Given the description of an element on the screen output the (x, y) to click on. 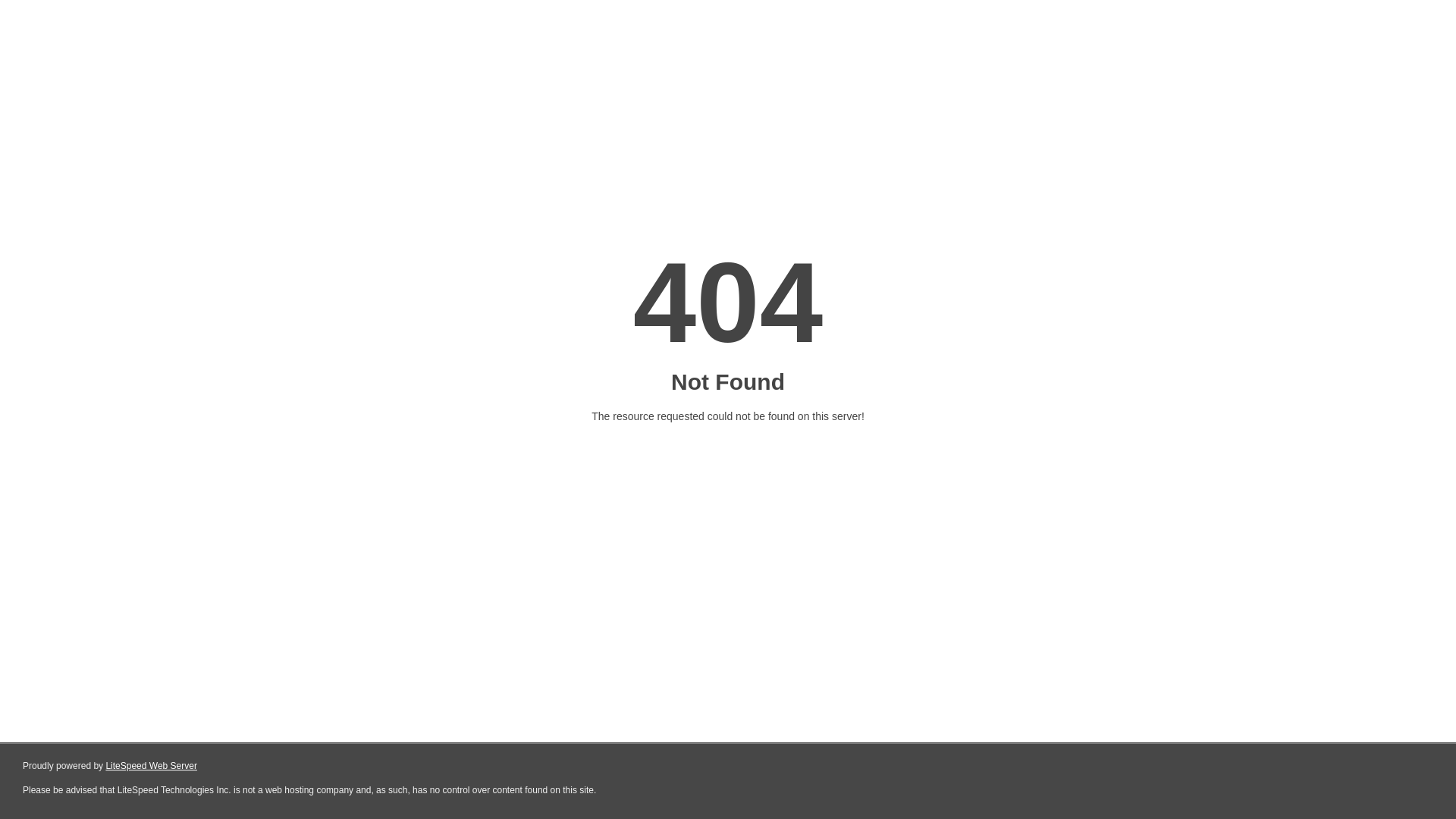
LiteSpeed Web Server Element type: text (151, 765)
